Given the description of an element on the screen output the (x, y) to click on. 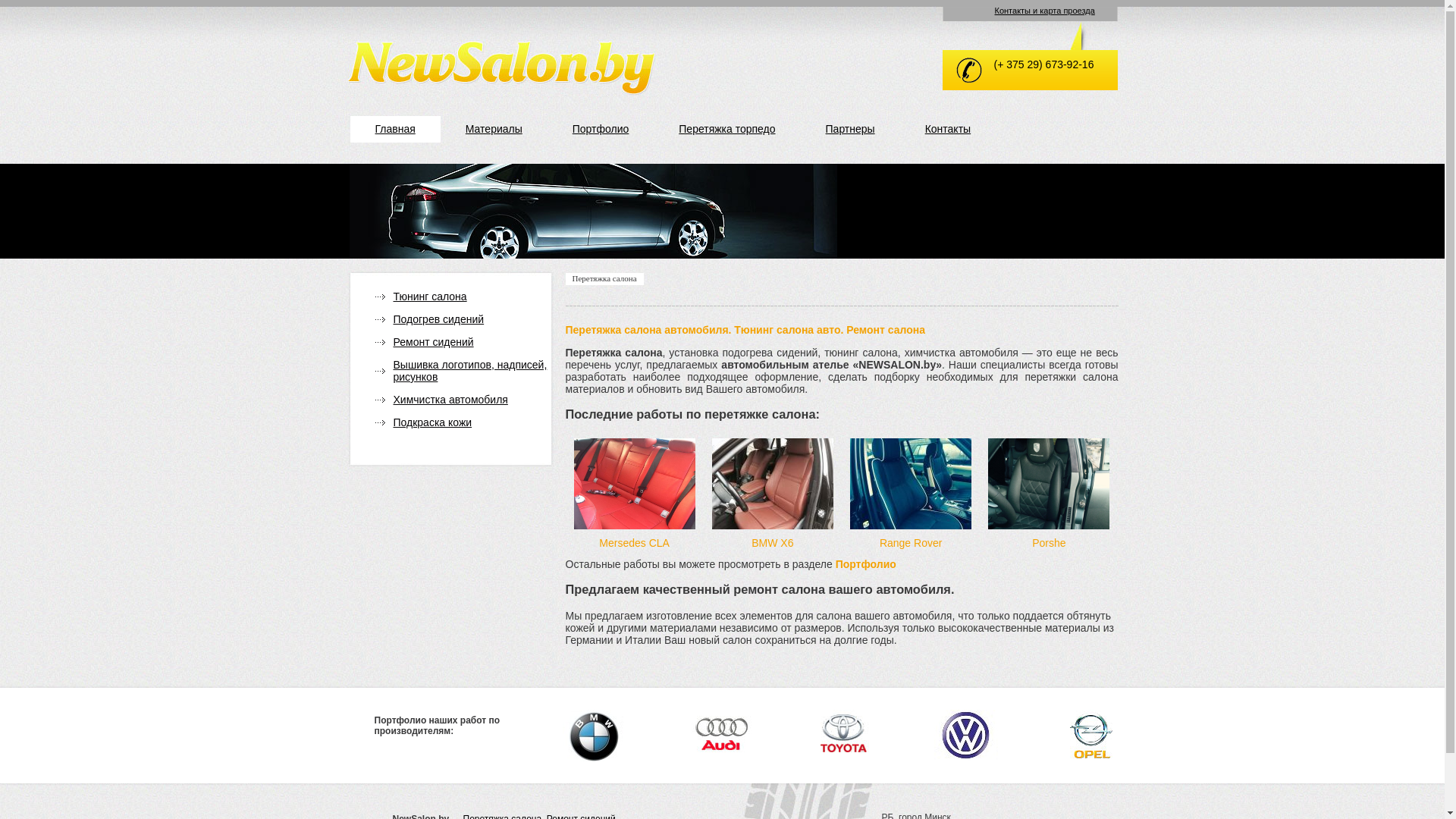
Mersedes CLA Element type: text (634, 542)
< Prev Element type: text (301, 324)
Next > Element type: text (840, 324)
Range Rover Element type: text (910, 542)
BMW X6 Element type: text (772, 542)
Porshe Element type: text (1048, 542)
